Given the description of an element on the screen output the (x, y) to click on. 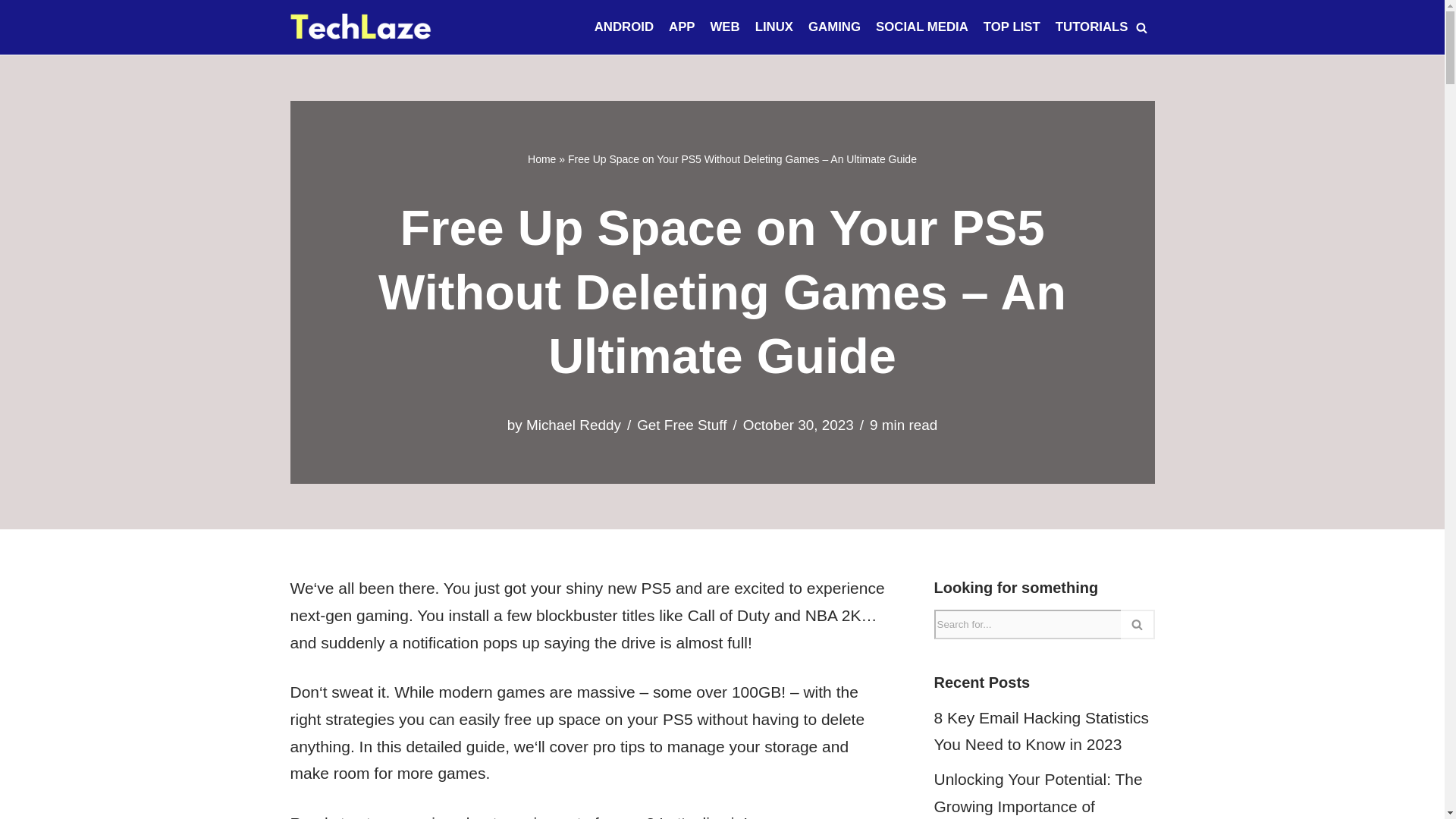
Get Free Stuff (681, 424)
ANDROID (623, 27)
LINUX (774, 27)
APP (681, 27)
Skip to content (11, 31)
Posts by Michael Reddy (573, 424)
TUTORIALS (1091, 27)
TOP LIST (1012, 27)
SOCIAL MEDIA (922, 27)
Home (541, 159)
Michael Reddy (573, 424)
GAMING (834, 27)
WEB (724, 27)
TechLaze (359, 26)
